Given the description of an element on the screen output the (x, y) to click on. 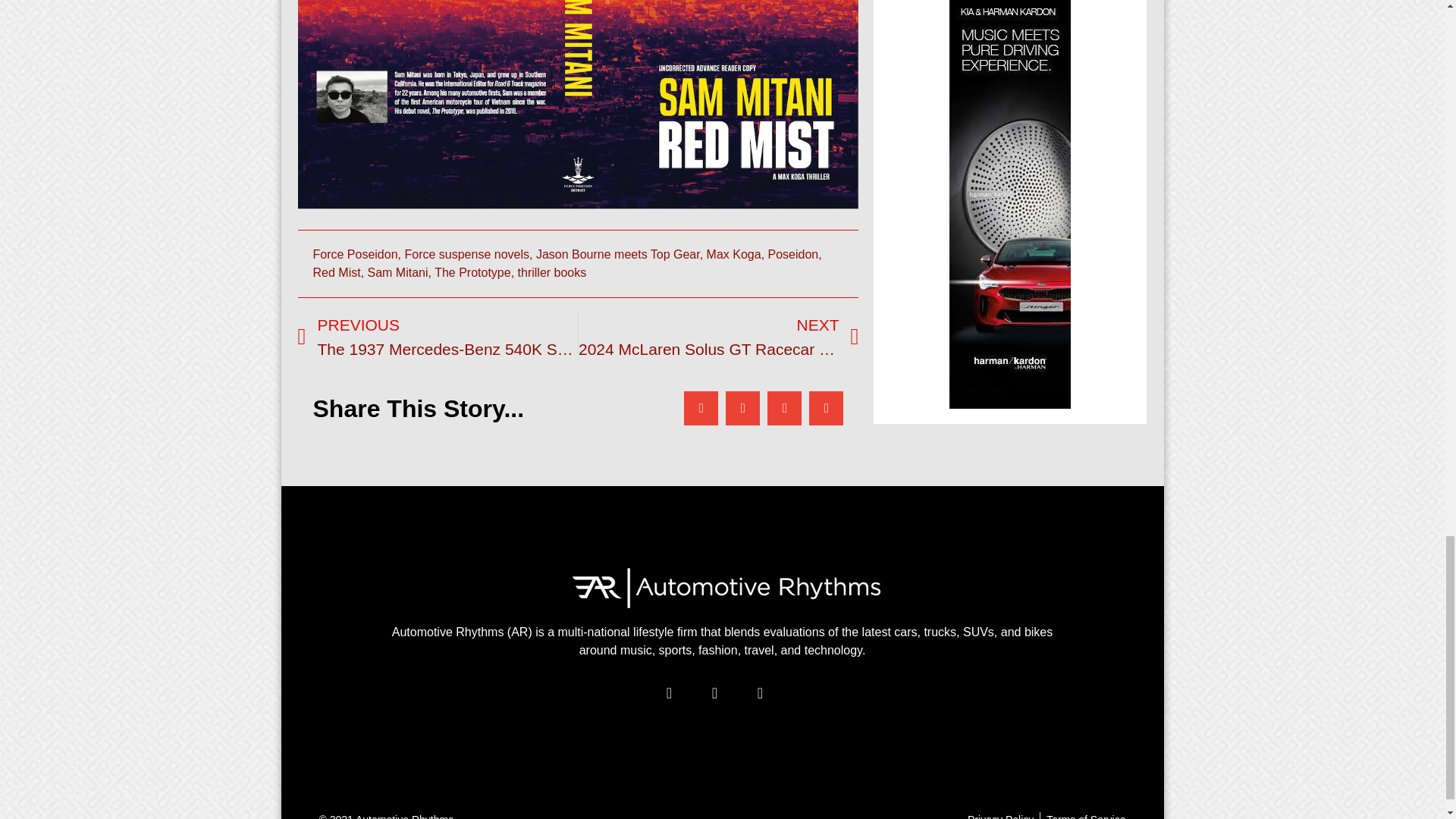
Poseidon (793, 254)
thriller books (552, 272)
Sam Mitani (398, 272)
Force Poseidon (355, 254)
Force suspense novels (466, 254)
Jason Bourne meets Top Gear (617, 254)
Max Koga (733, 254)
The Prototype (472, 272)
Red Mist (336, 272)
